Given the description of an element on the screen output the (x, y) to click on. 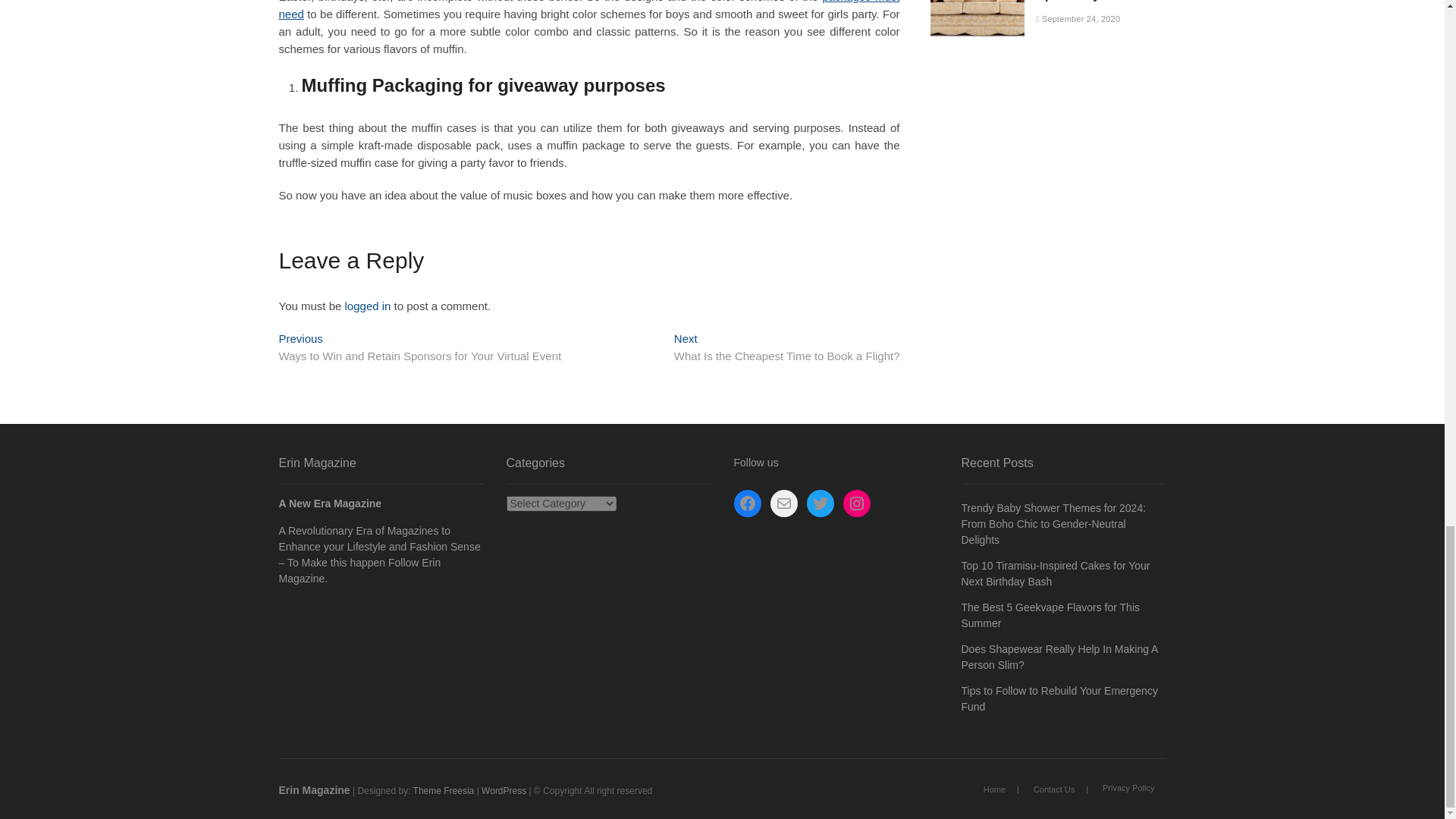
packages must need (786, 348)
logged in (589, 10)
